Given the description of an element on the screen output the (x, y) to click on. 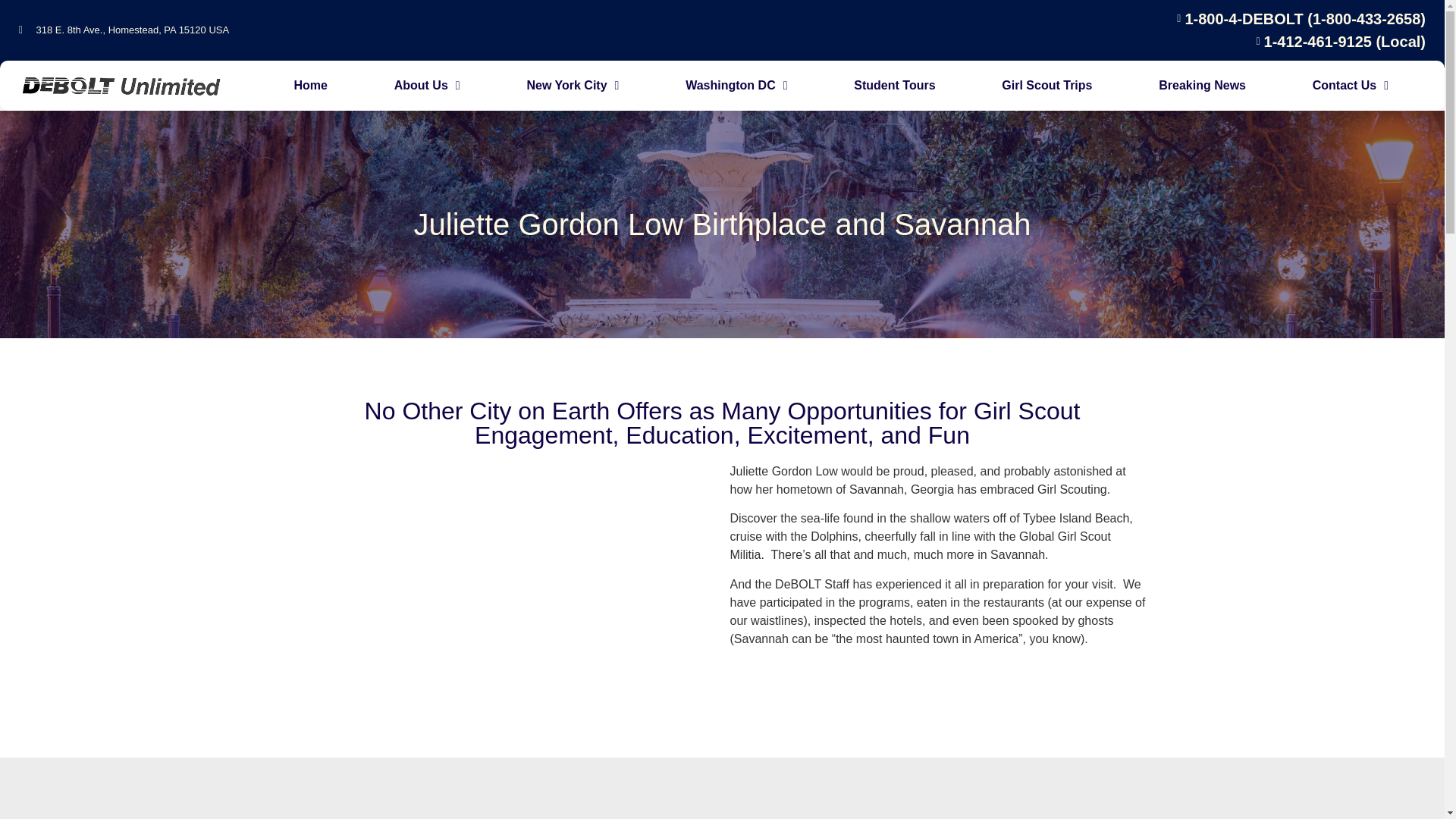
Student Tours (894, 85)
Girl Scout Trips (1046, 85)
Contact Us (1350, 85)
About Us (427, 85)
Washington DC (736, 85)
Breaking News (1202, 85)
New York City (572, 85)
Home (310, 85)
